Given the description of an element on the screen output the (x, y) to click on. 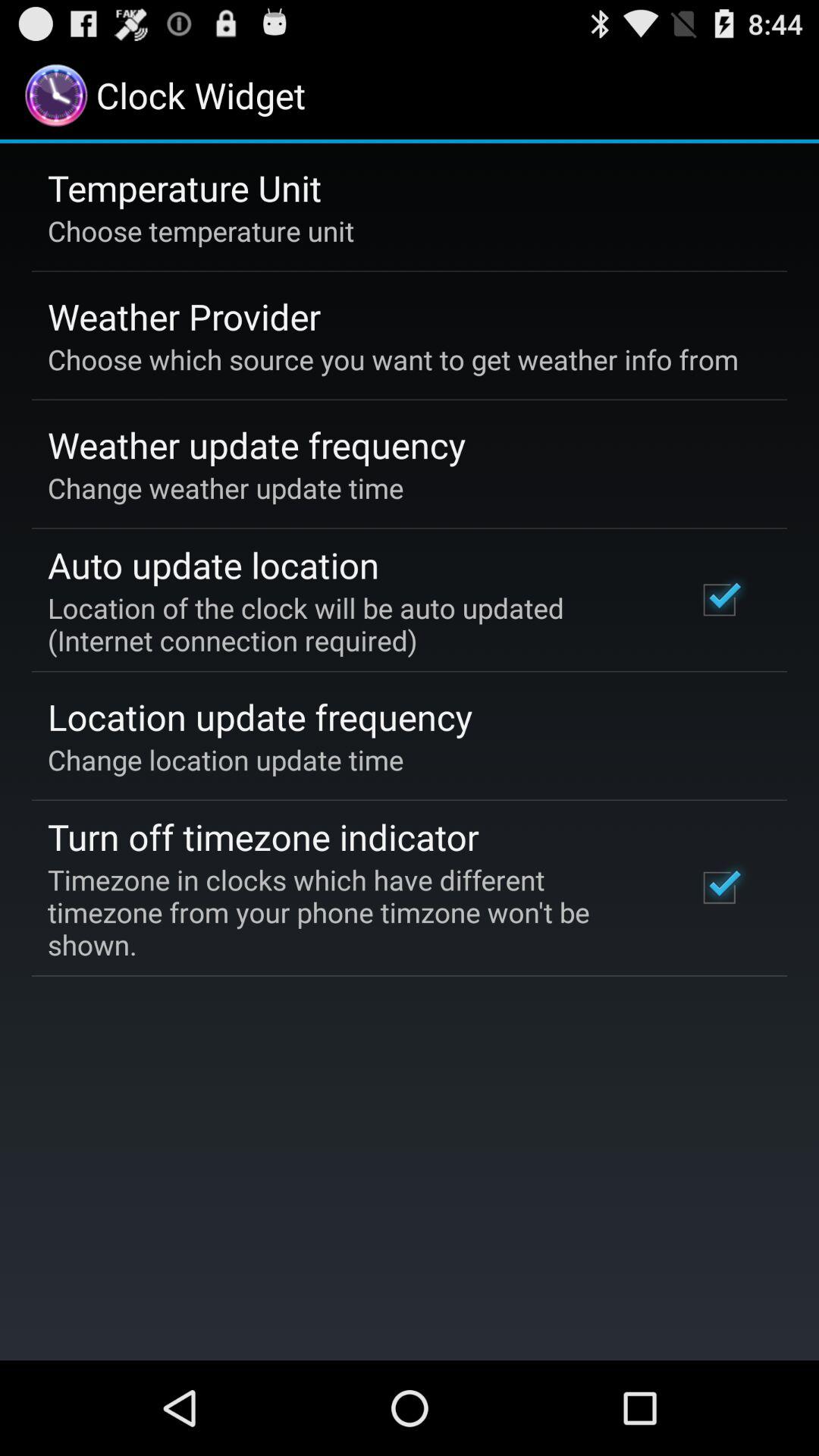
open turn off timezone (262, 836)
